Given the description of an element on the screen output the (x, y) to click on. 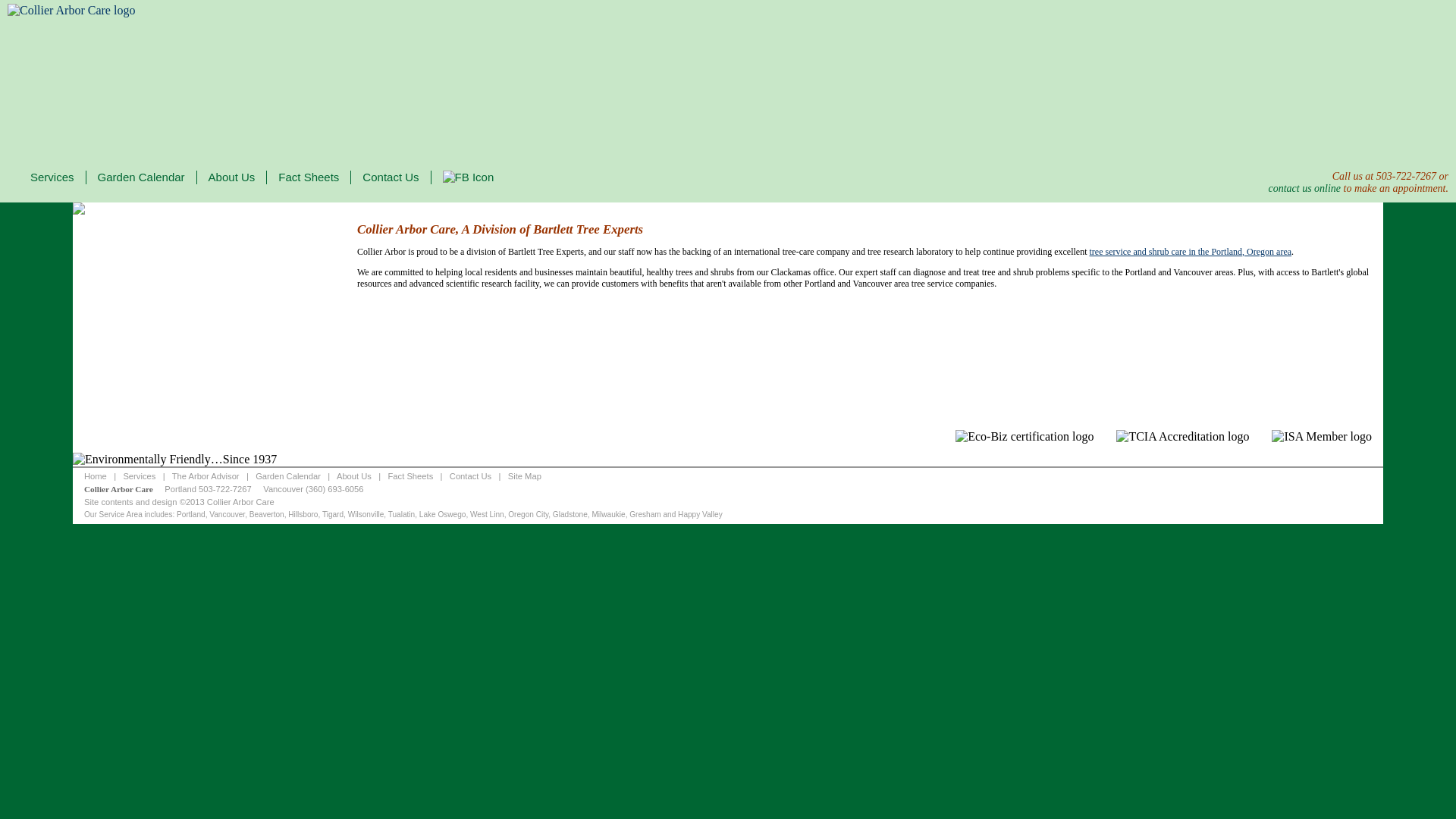
Fact Sheets (410, 475)
tree service and shrub care in the Portland, Oregon area (1190, 250)
The Arbor Advisor (205, 475)
Fact Sheets (308, 176)
About Us (232, 176)
Garden Calendar (288, 475)
Site Map (524, 475)
Services (52, 176)
Contact Us (390, 176)
Contact Us (470, 475)
